Given the description of an element on the screen output the (x, y) to click on. 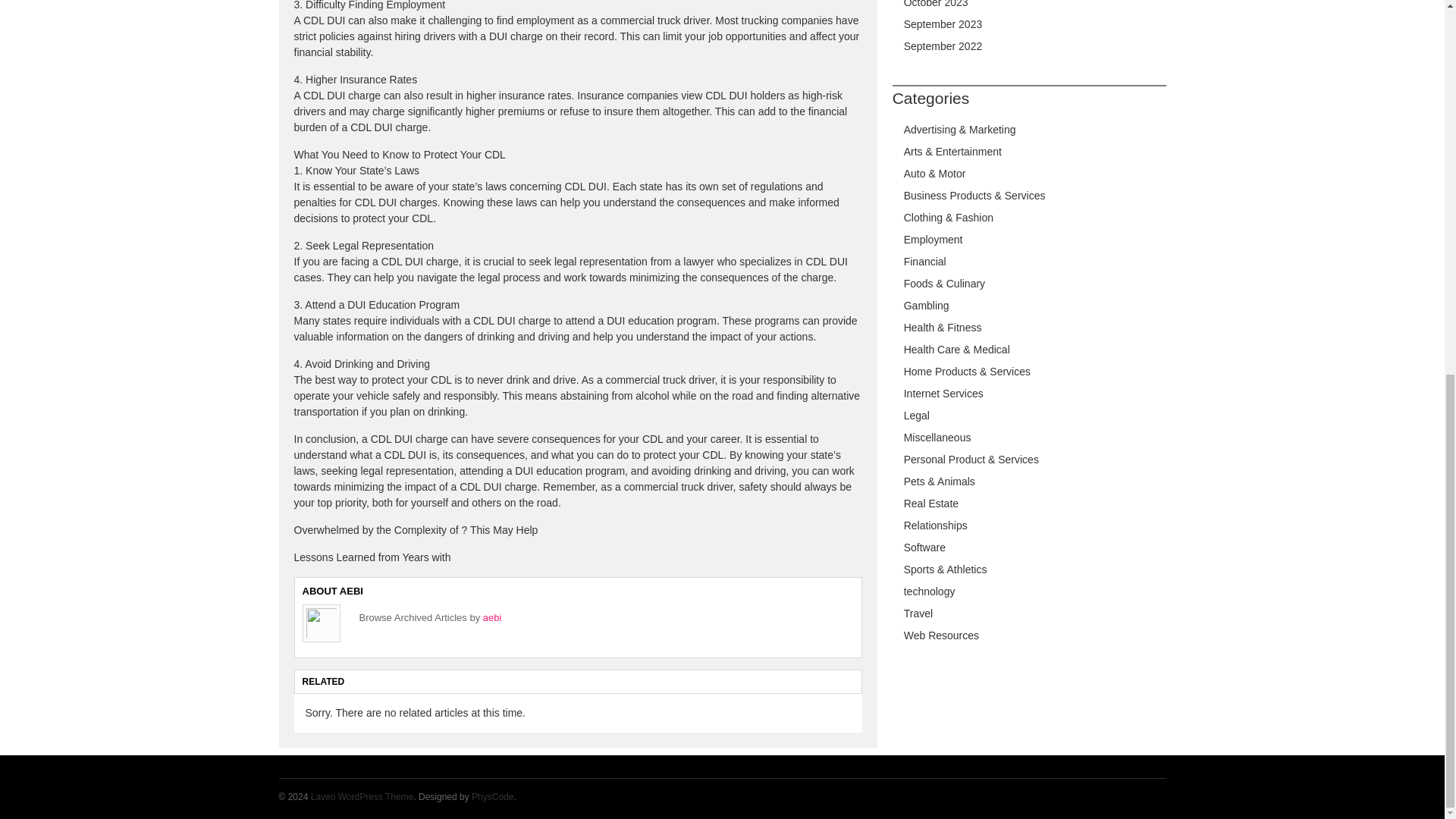
September 2022 (943, 46)
Internet Services (944, 393)
aebi (492, 617)
Employment (933, 239)
Lessons Learned from Years with (372, 557)
Overwhelmed by the Complexity of ? This May Help (416, 530)
Financial (925, 261)
Gambling (926, 305)
October 2023 (936, 4)
September 2023 (943, 24)
